Given the description of an element on the screen output the (x, y) to click on. 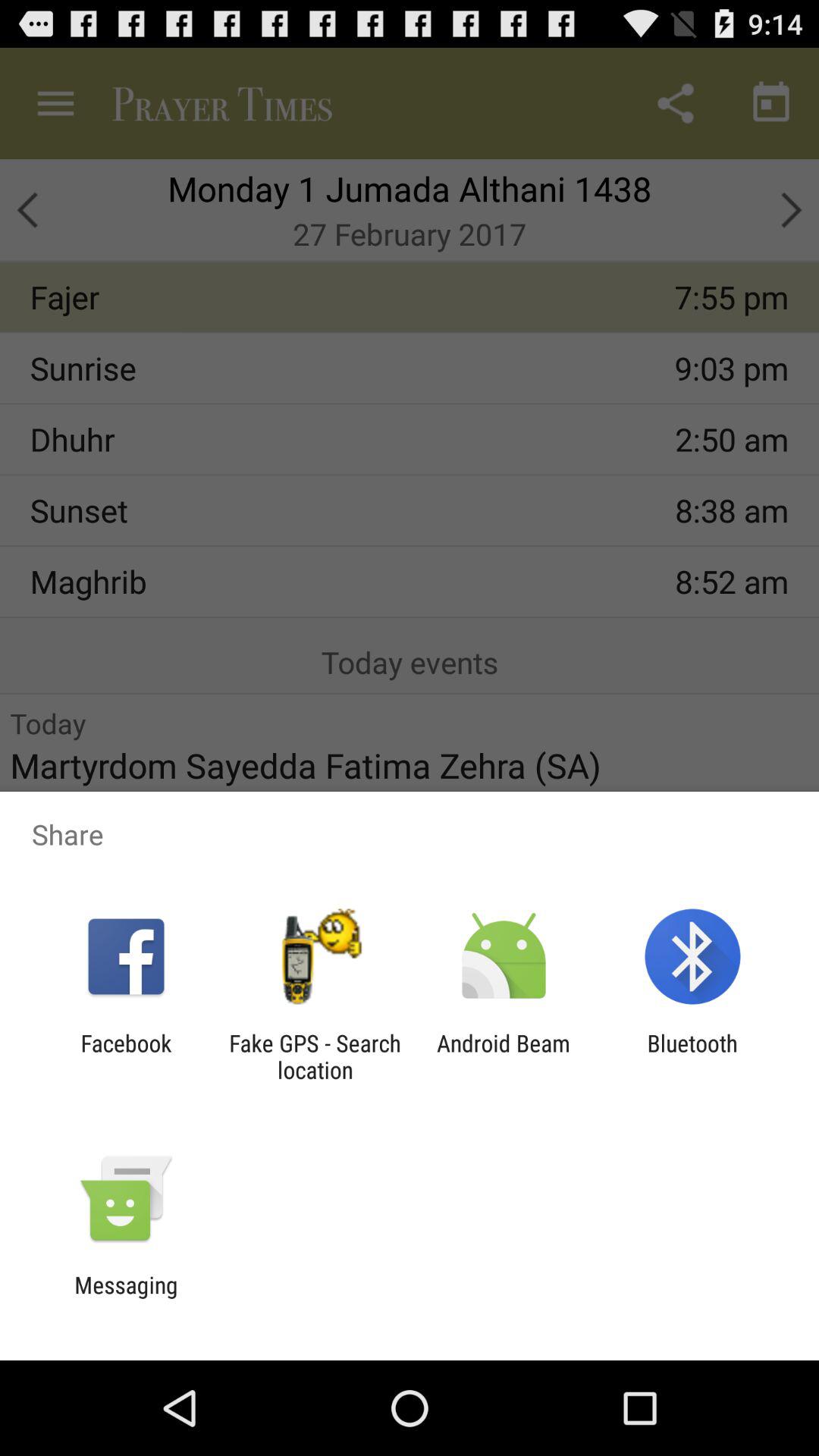
open android beam icon (503, 1056)
